Given the description of an element on the screen output the (x, y) to click on. 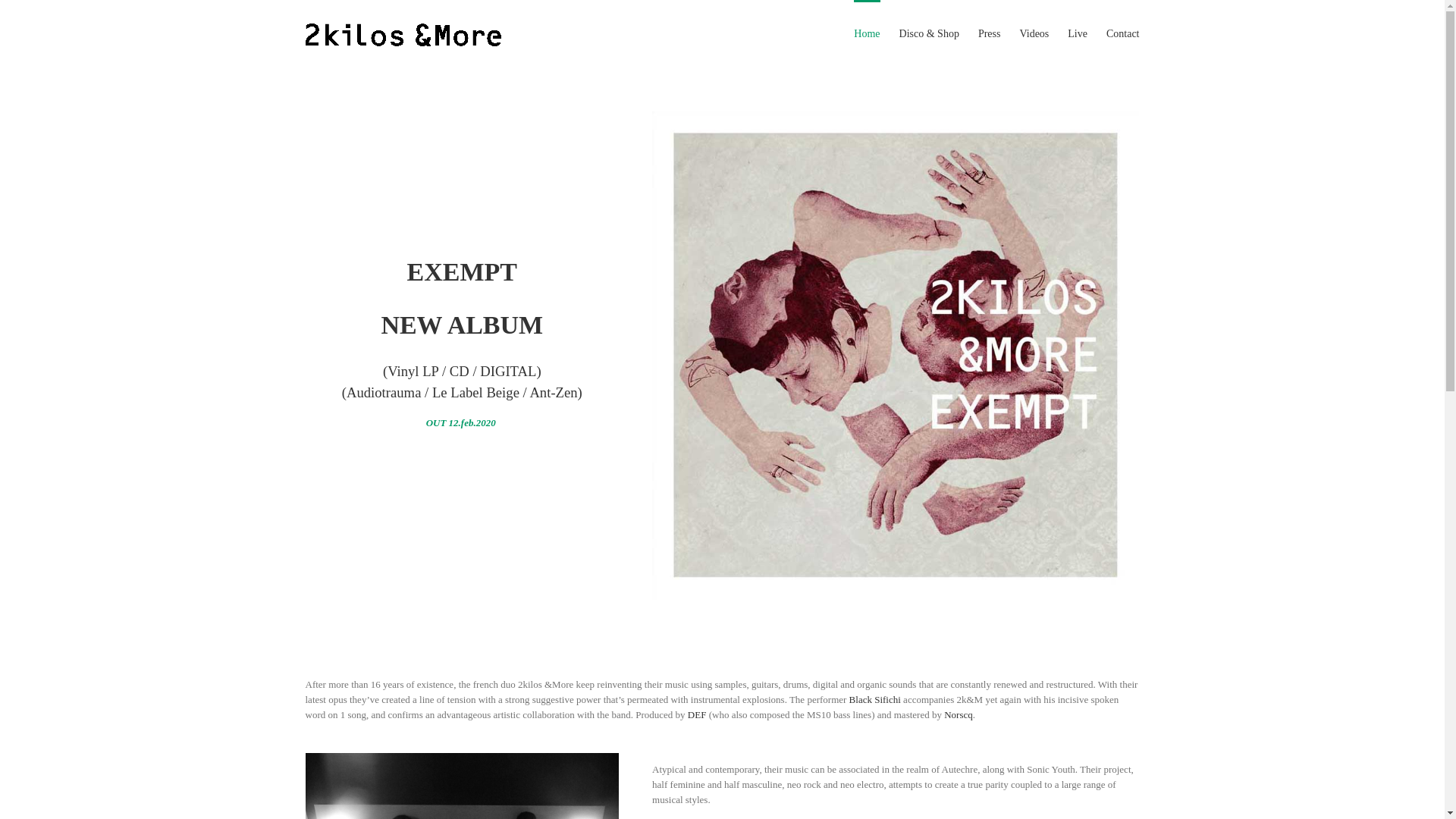
Home Element type: text (866, 32)
Contact Element type: text (1122, 32)
Live Element type: text (1077, 32)
Black Sifichi Element type: text (874, 699)
Norscq Element type: text (958, 714)
Disco & Shop Element type: text (929, 32)
Press Element type: text (989, 32)
Videos Element type: text (1033, 32)
DEF Element type: text (696, 714)
